Given the description of an element on the screen output the (x, y) to click on. 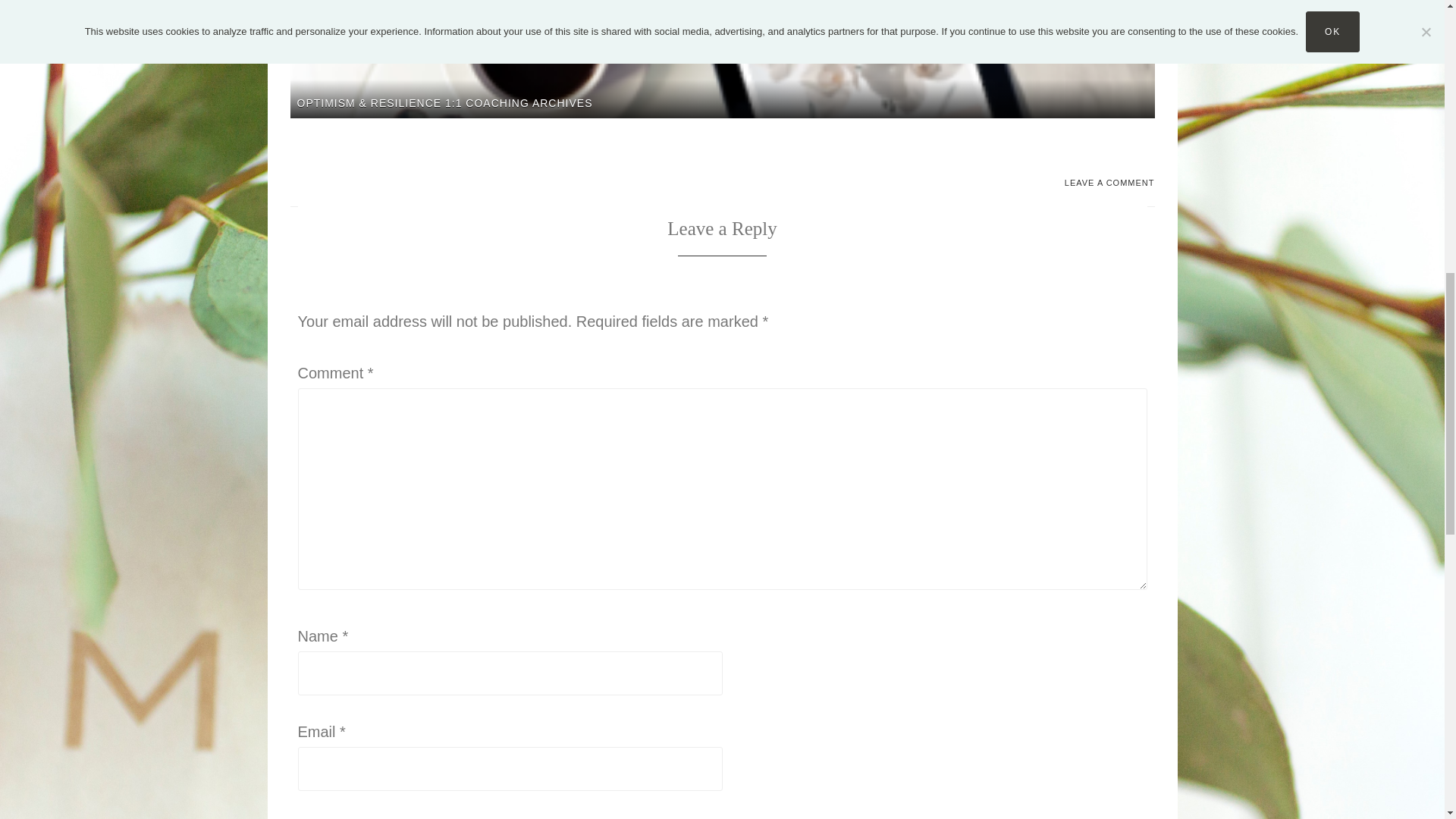
LEAVE A COMMENT (1109, 182)
